Given the description of an element on the screen output the (x, y) to click on. 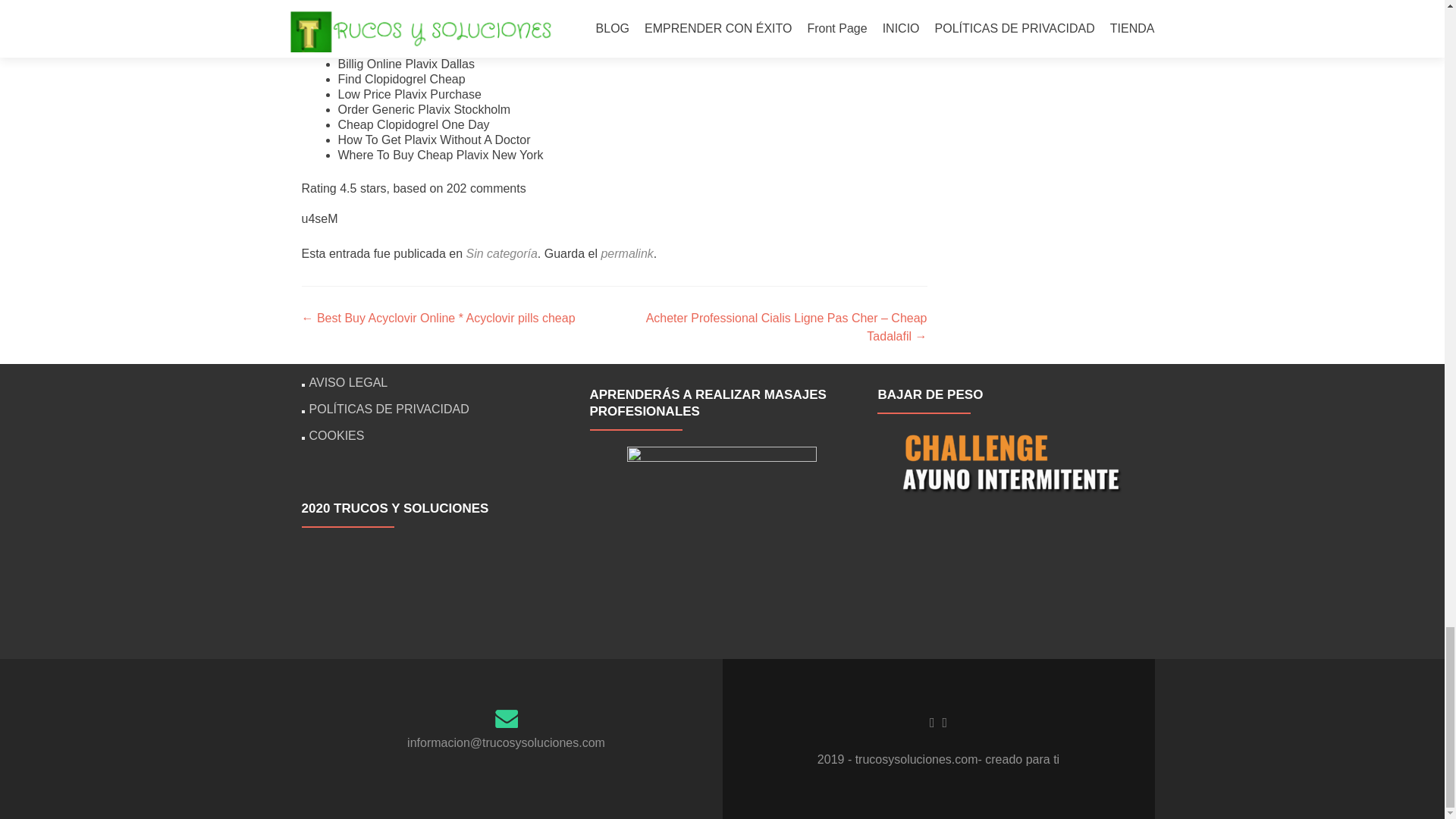
permalink (625, 253)
